Given the description of an element on the screen output the (x, y) to click on. 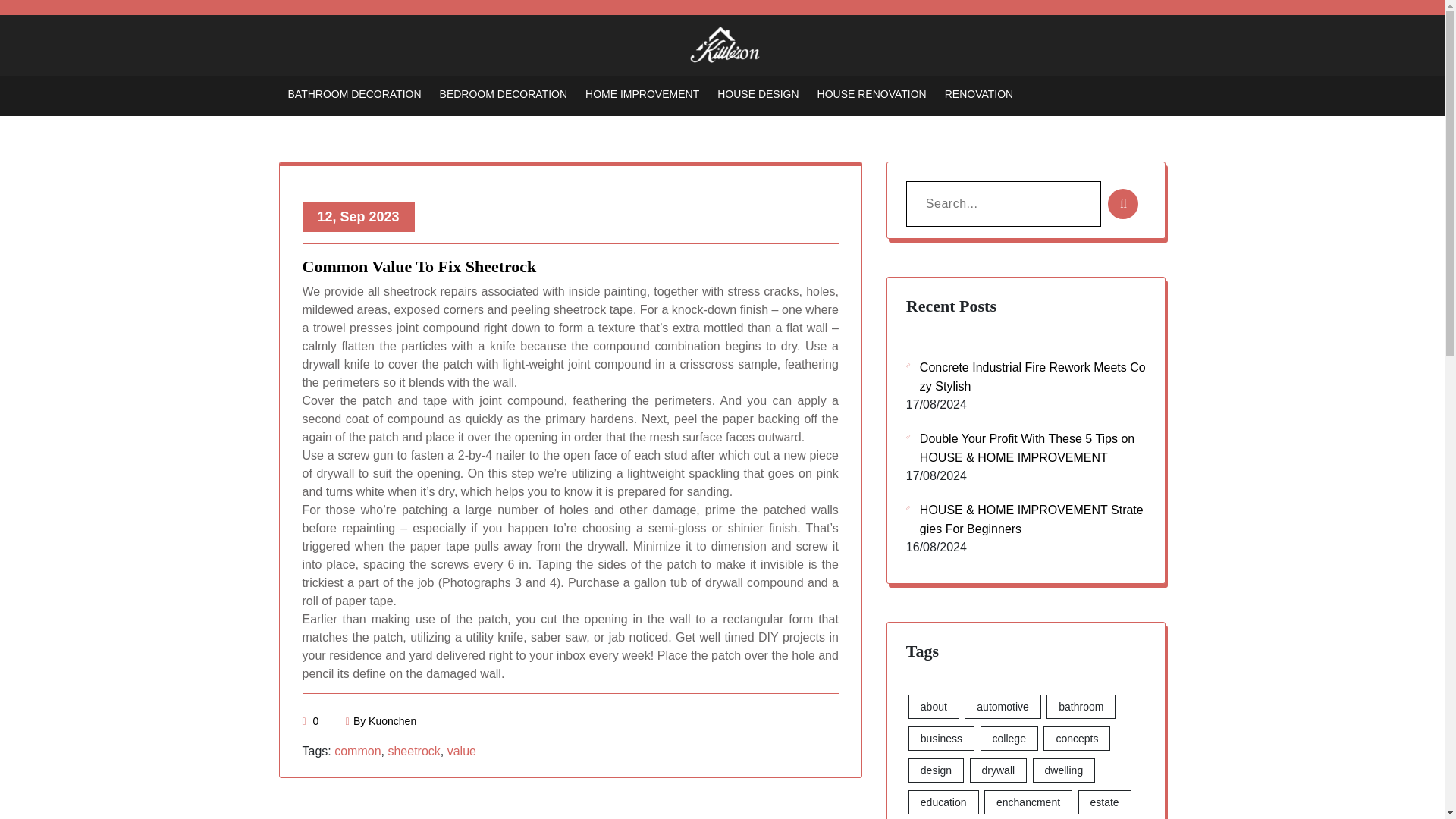
automotive (1002, 706)
0 (315, 720)
college (1008, 738)
Concrete Industrial Fire Rework Meets Cozy Stylish (1026, 376)
drywall (998, 770)
By Kuonchen (380, 720)
common (357, 750)
RENOVATION (978, 93)
HOME IMPROVEMENT (641, 93)
estate (1104, 802)
